Given the description of an element on the screen output the (x, y) to click on. 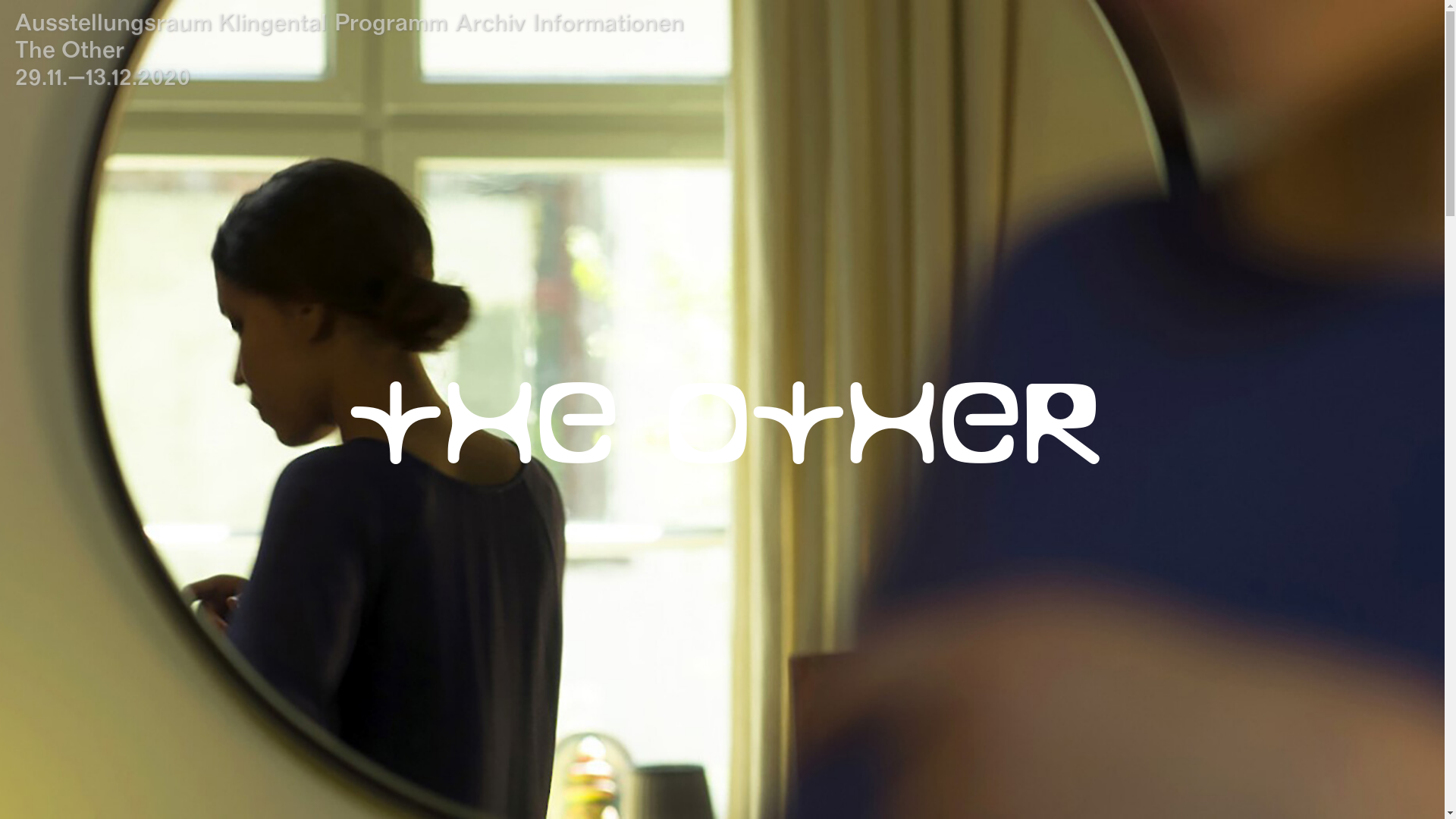
Archiv Element type: text (489, 20)
Programm Element type: text (390, 20)
Informationen Element type: text (608, 20)
Ausstellungsraum Klingental Element type: text (170, 20)
